Given the description of an element on the screen output the (x, y) to click on. 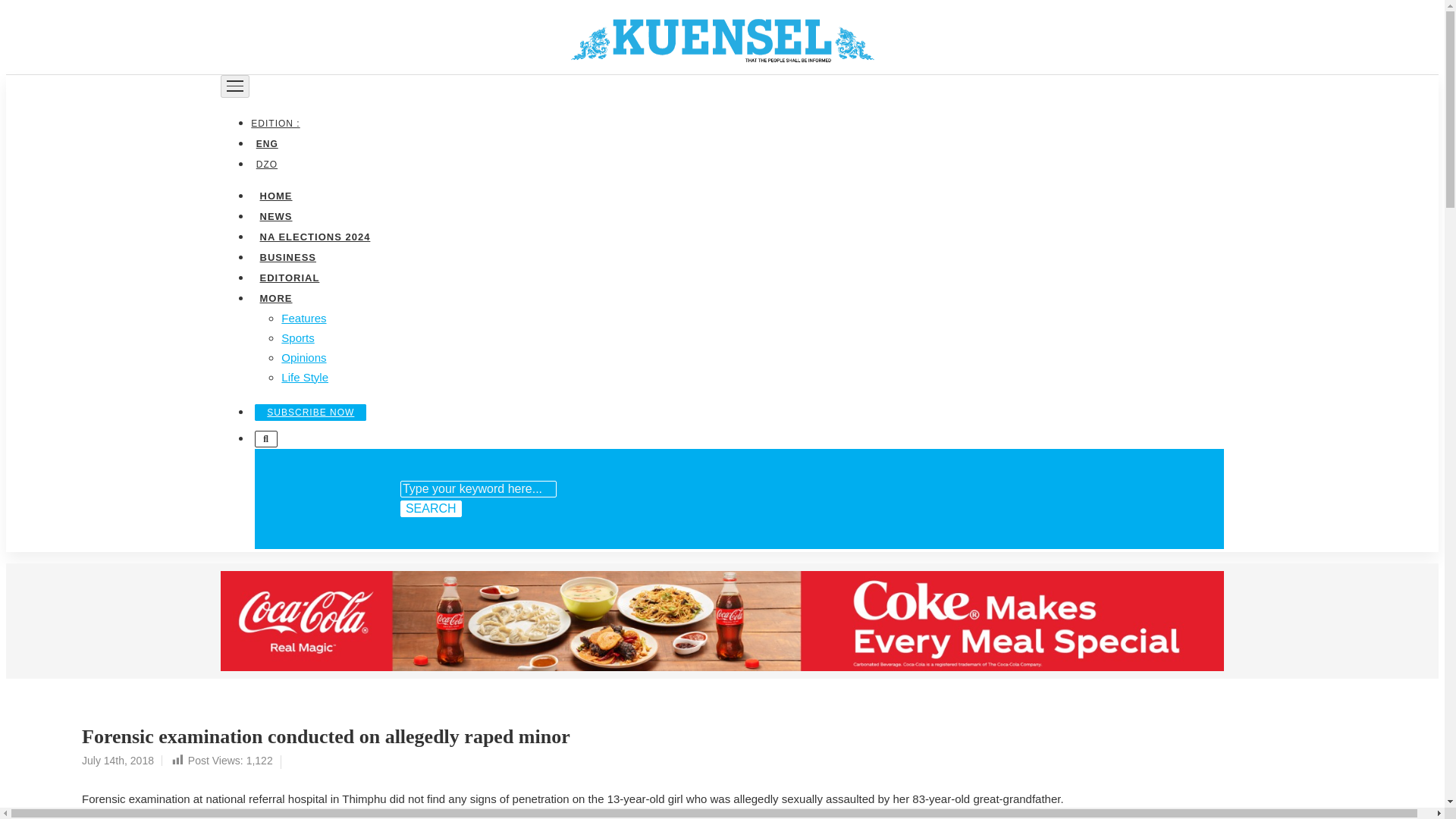
Features (303, 317)
MORE (274, 297)
Sports (297, 336)
SUBSCRIBE NOW (310, 411)
HOME (274, 194)
BUSINESS (287, 256)
EDITORIAL (288, 276)
NA ELECTIONS 2024 (314, 235)
NEWS (274, 215)
SEARCH (430, 508)
ENG (266, 143)
DZO (266, 163)
Life Style (305, 376)
Opinions (303, 356)
EDITION : (277, 122)
